Given the description of an element on the screen output the (x, y) to click on. 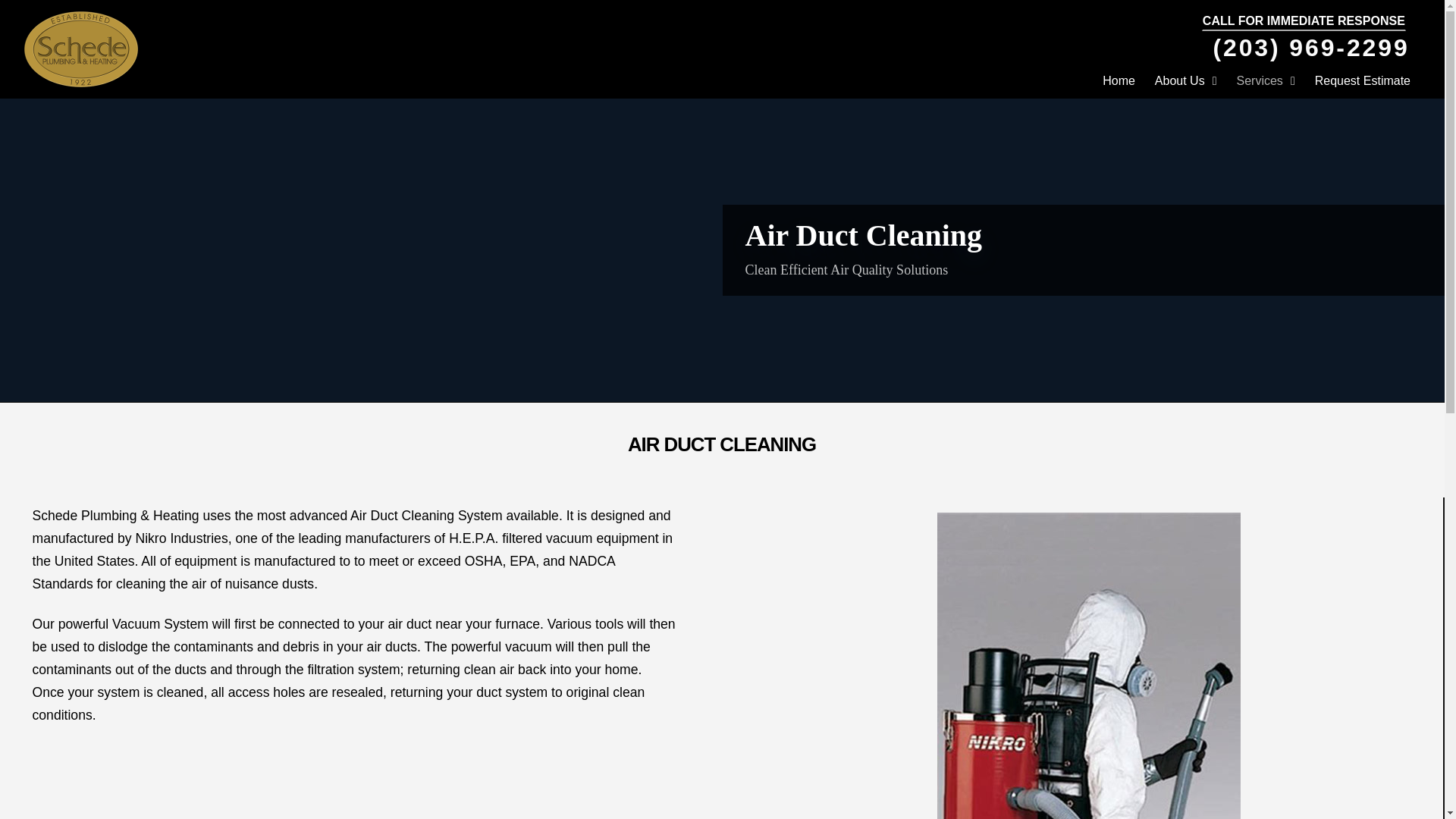
About Us (1185, 81)
Home (1118, 81)
Request Estimate (1362, 81)
Services (1265, 81)
